Given the description of an element on the screen output the (x, y) to click on. 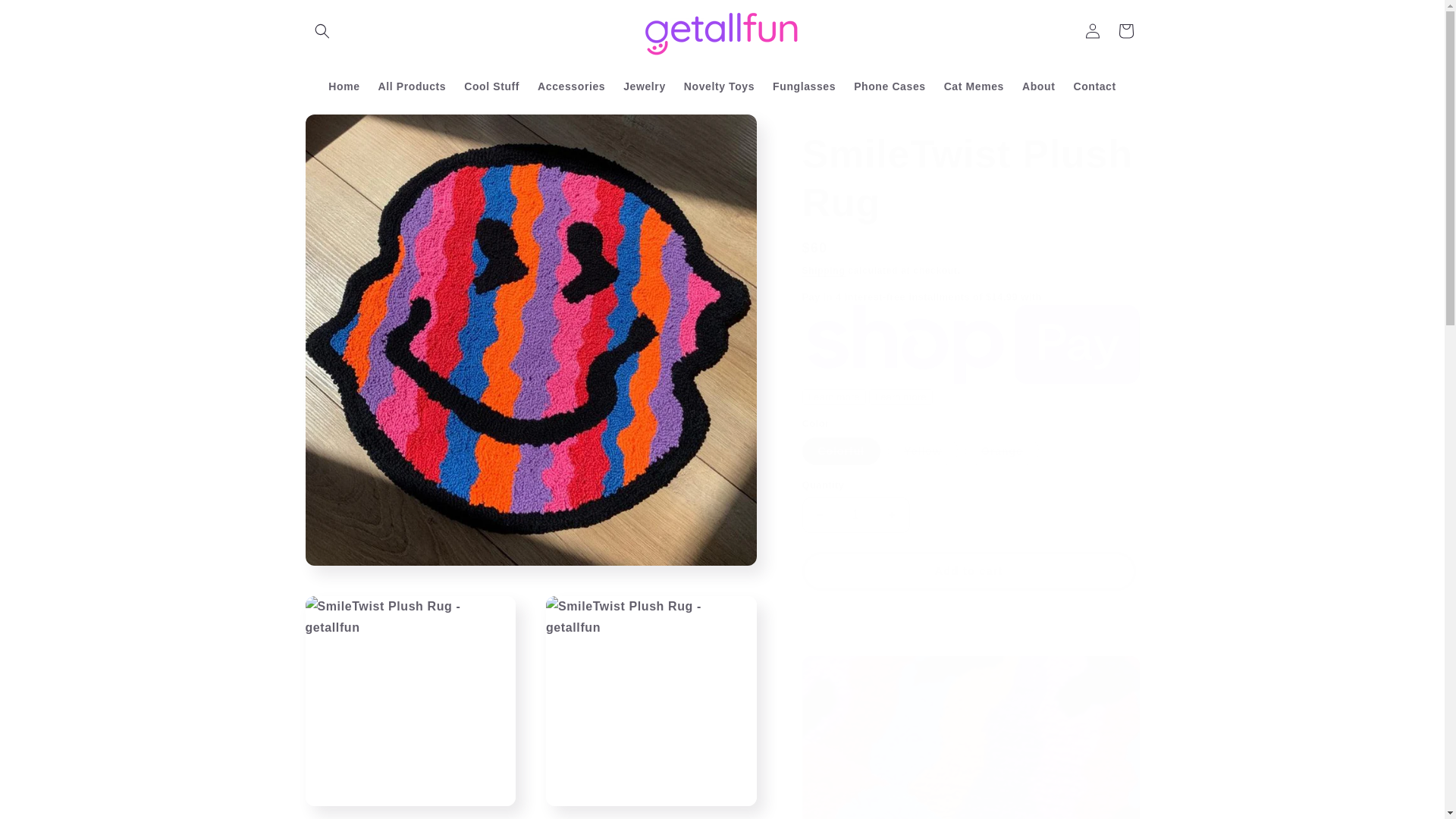
Cool Stuff (491, 85)
Open media 3 in modal (651, 701)
Open media 2 in modal (409, 701)
Phone Cases (889, 85)
Funglasses (803, 85)
Home (343, 85)
Contact (1094, 85)
Novelty Toys (718, 85)
Skip to content (47, 18)
